Given the description of an element on the screen output the (x, y) to click on. 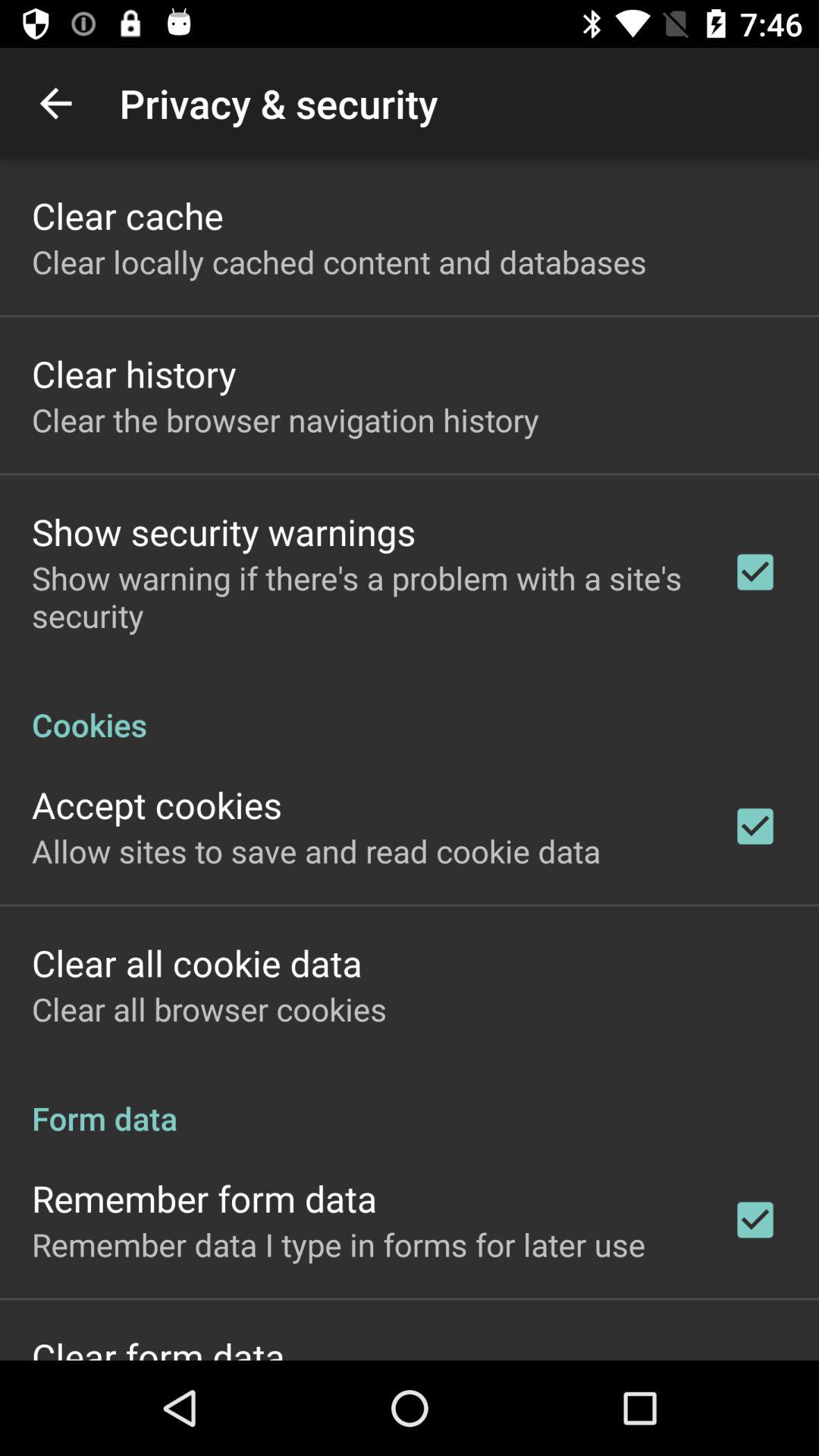
click item above the allow sites to app (156, 804)
